Given the description of an element on the screen output the (x, y) to click on. 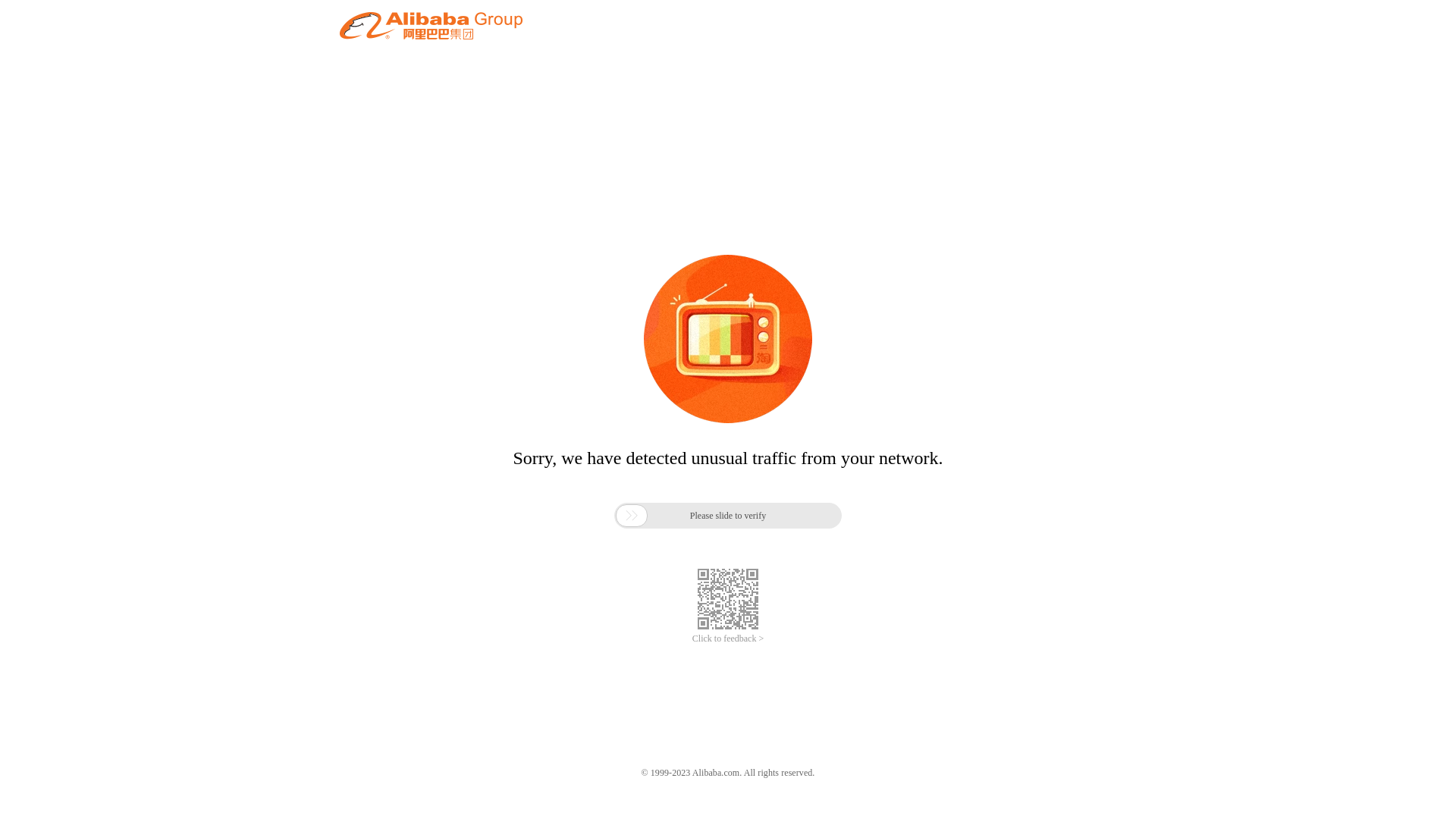
Click to feedback > Element type: text (727, 638)
